Given the description of an element on the screen output the (x, y) to click on. 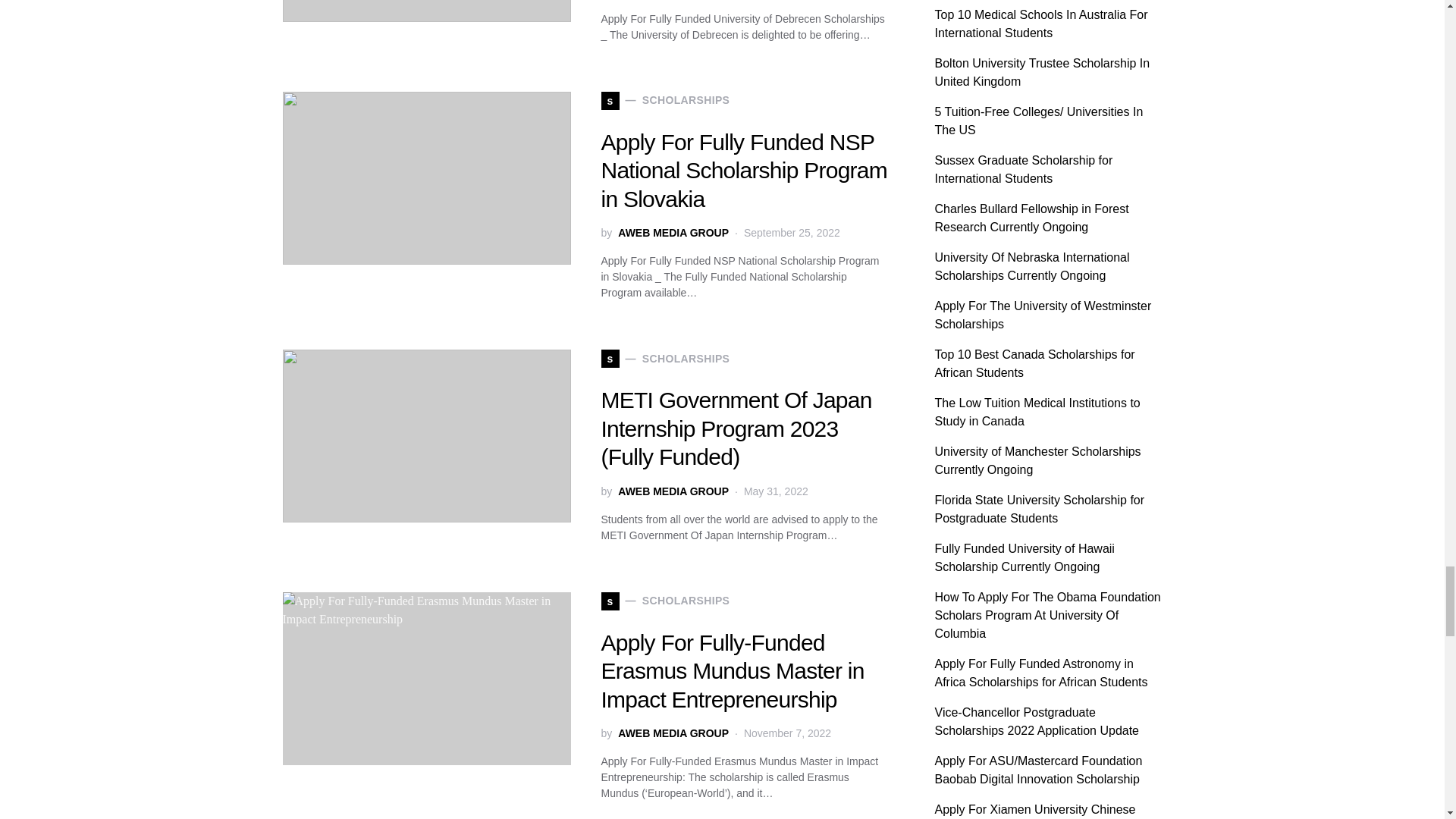
View all posts by AWEB MEDIA GROUP (673, 491)
View all posts by AWEB MEDIA GROUP (673, 232)
View all posts by AWEB MEDIA GROUP (673, 733)
